Given the description of an element on the screen output the (x, y) to click on. 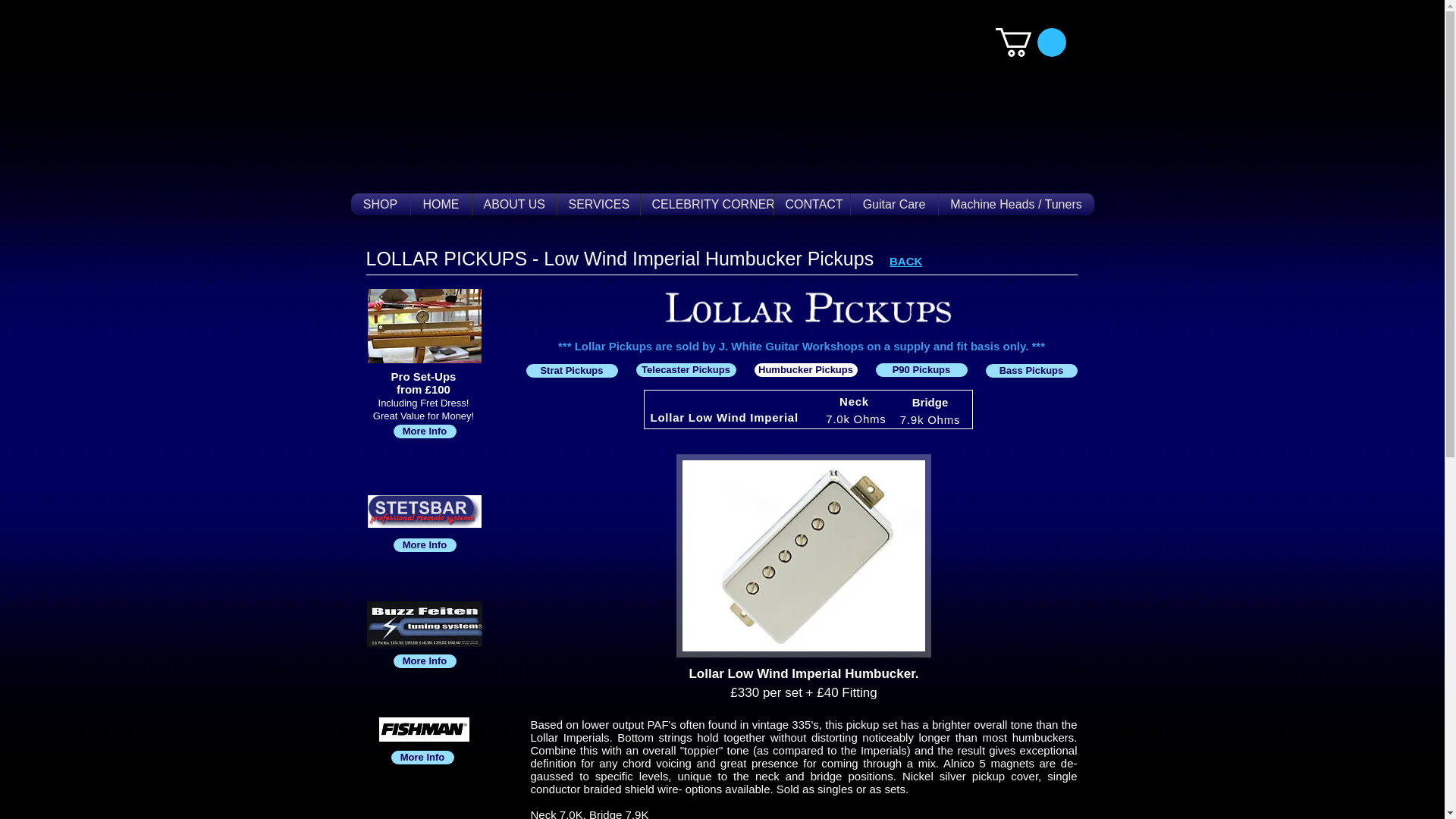
P90 Pickups (920, 369)
More Info (424, 431)
Guitar Care (893, 204)
Humbucker Pickups (805, 369)
SHOP (380, 204)
BACK (905, 258)
HOME (440, 204)
More Info (424, 545)
ABOUT US (514, 204)
Bass Pickups (1031, 370)
